Given the description of an element on the screen output the (x, y) to click on. 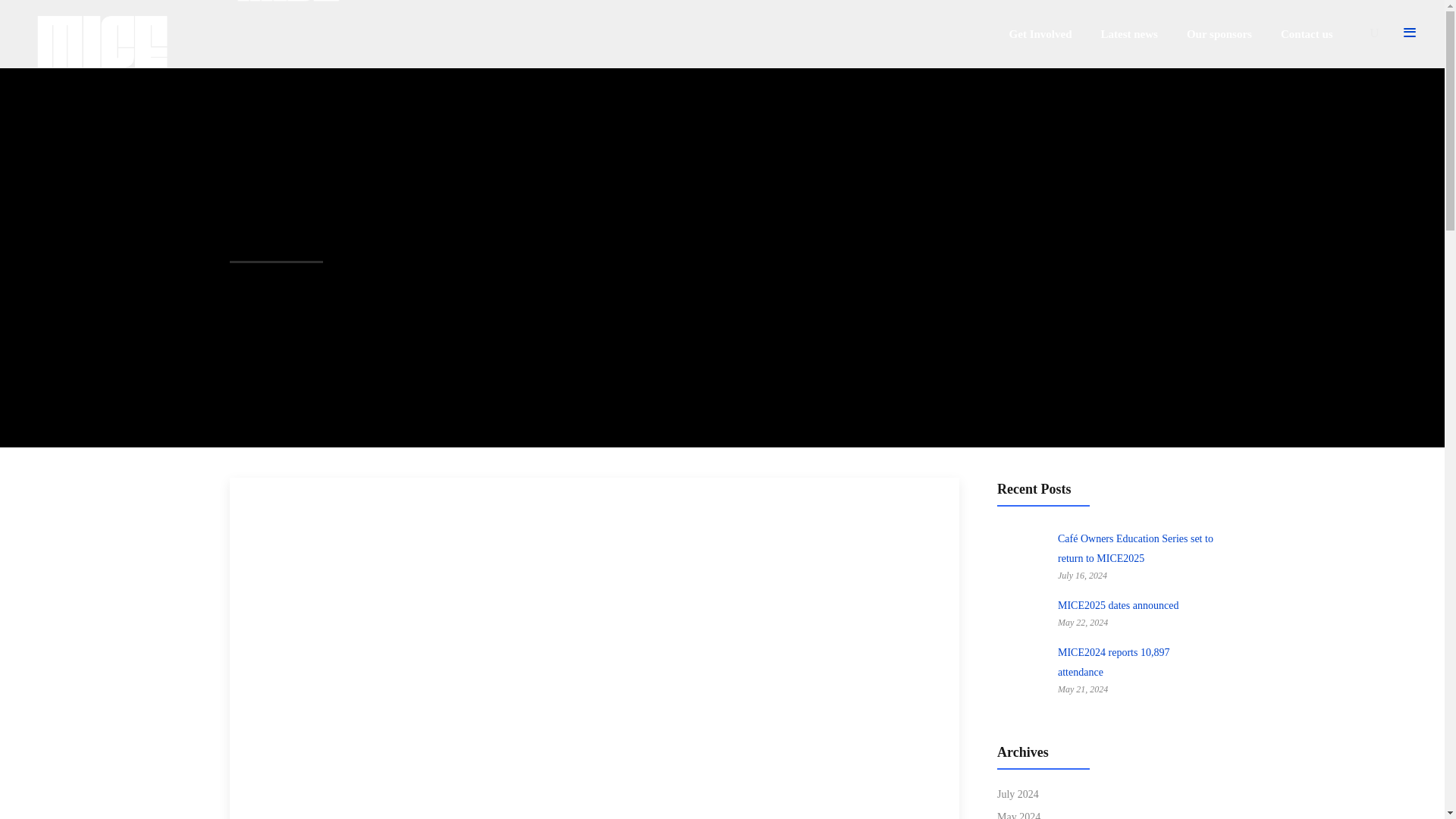
MICE2024 reports 10,897 attendance (1113, 662)
Search (979, 487)
Get Involved (1040, 33)
Latest news (1129, 33)
News (264, 502)
MICE2025 dates announced (1117, 604)
MICE2025 dates announced (1022, 615)
MICE2024 reports 10,897 attendance (1022, 673)
Our sponsors (1219, 33)
Contact us (1307, 33)
